Given the description of an element on the screen output the (x, y) to click on. 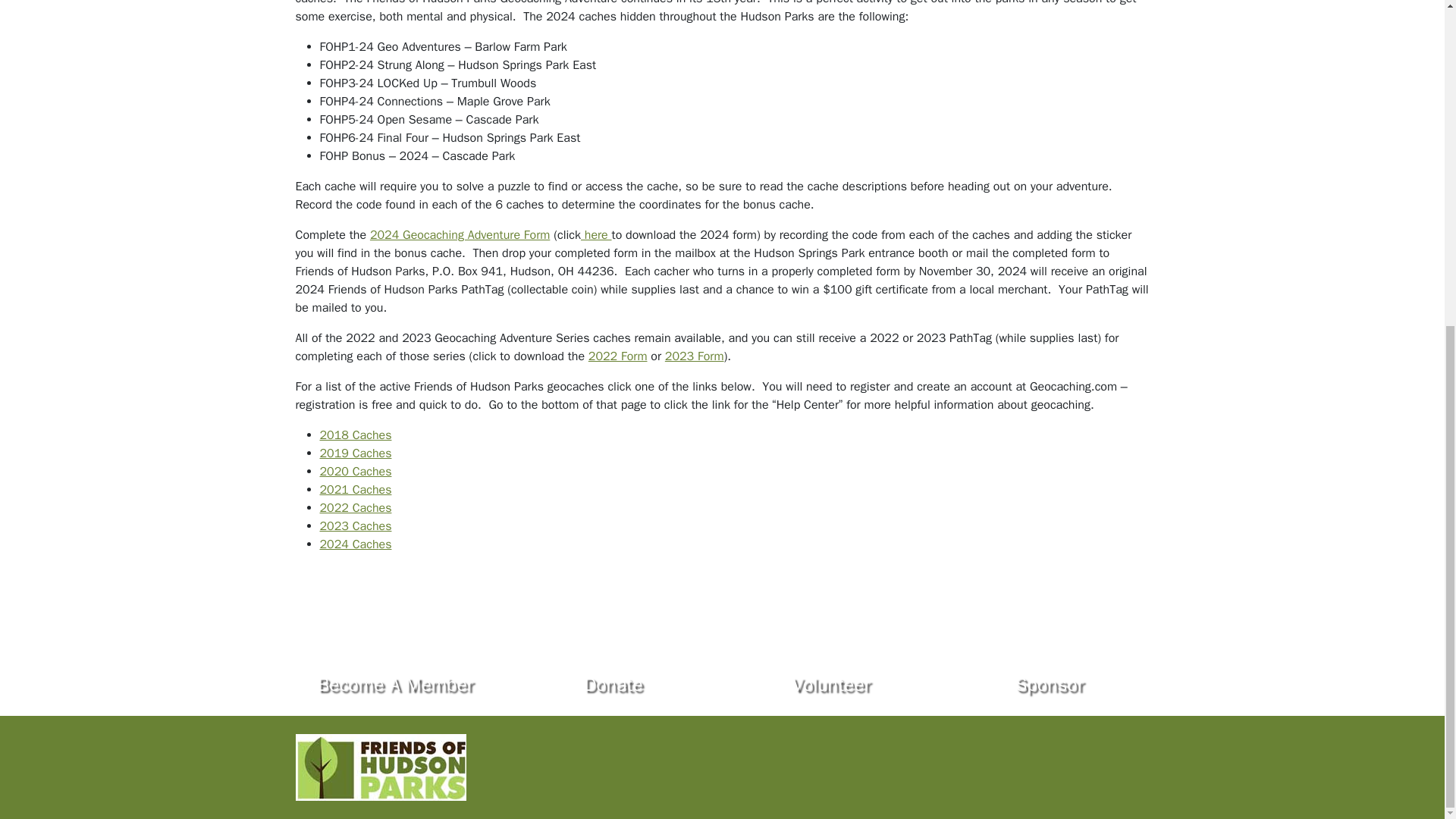
2020 Caches (355, 471)
2023 Form (694, 355)
2022 Form (617, 355)
2024 Geocaching Adventure Form (459, 234)
2021 Caches (355, 489)
 here  (595, 234)
2018 Caches (355, 435)
2019 Caches (355, 453)
